Given the description of an element on the screen output the (x, y) to click on. 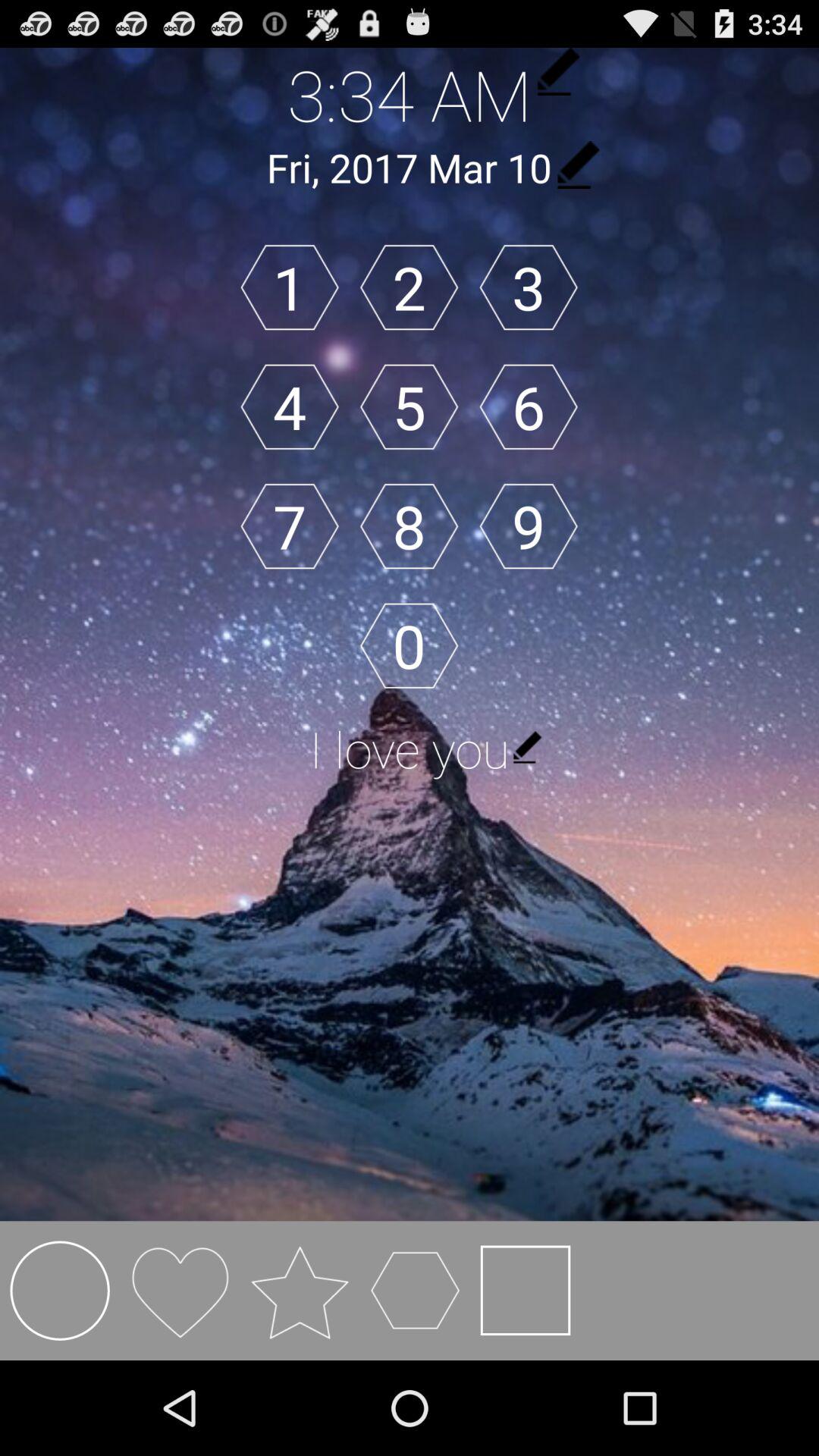
click the 3:34 am icon (409, 94)
